Given the description of an element on the screen output the (x, y) to click on. 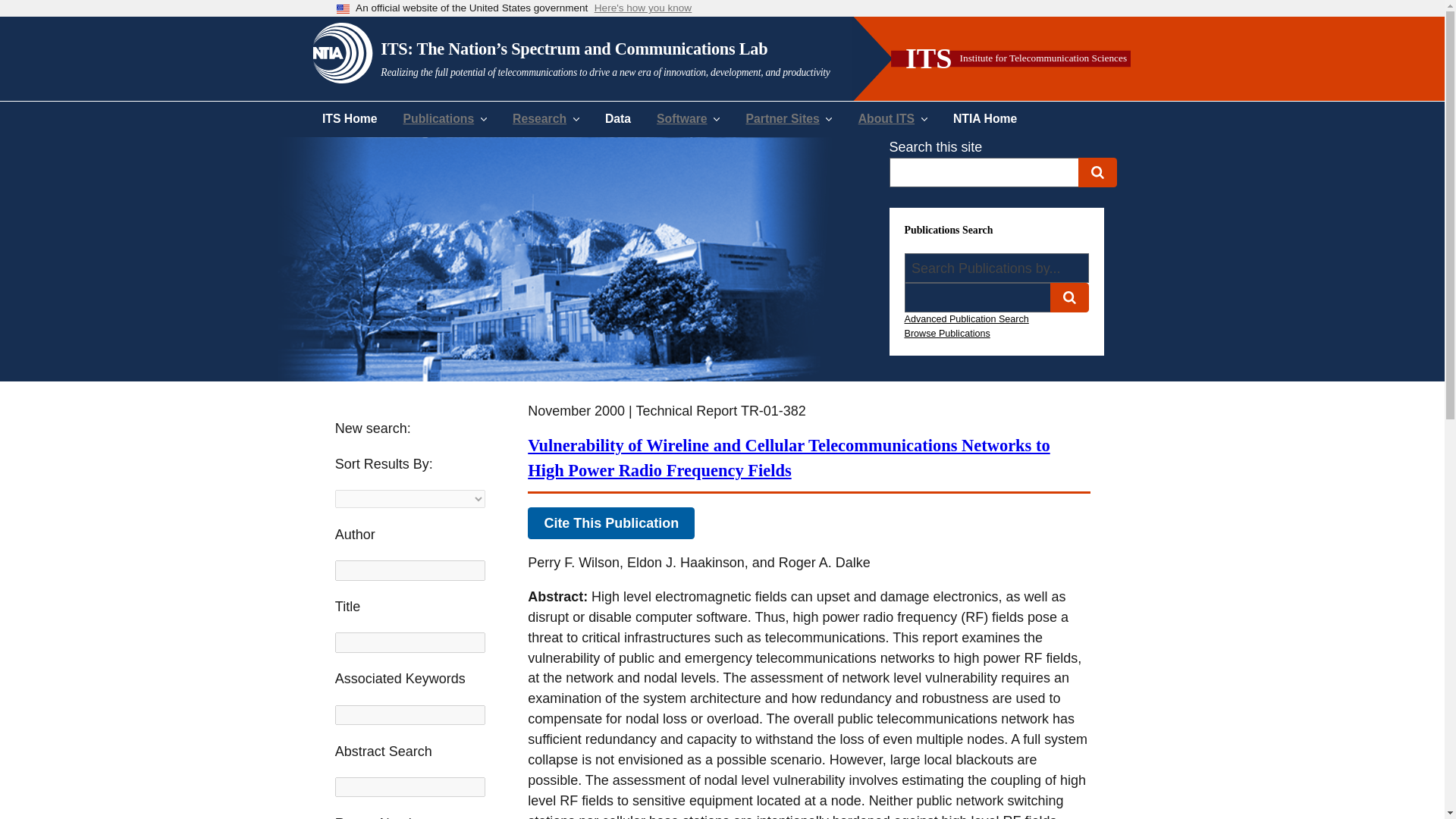
Data (617, 118)
Advanced Publication Search (965, 319)
About ITS (892, 118)
NTIA Home (984, 118)
Publications (445, 118)
Here's how you know (642, 8)
Cite This Publication (610, 522)
Browse Publications (947, 332)
National Telecommunications and Information Administration (342, 50)
